Given the description of an element on the screen output the (x, y) to click on. 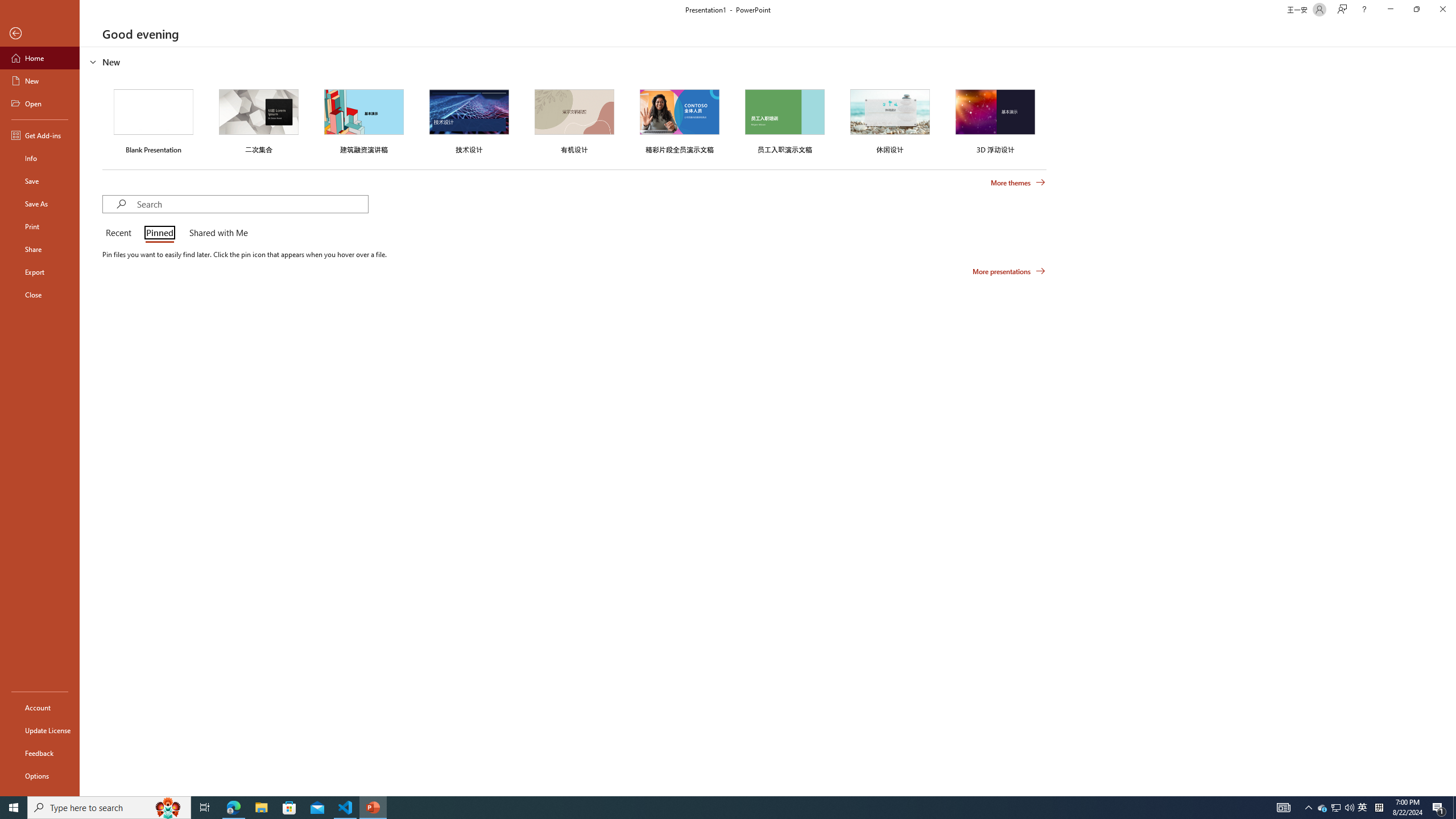
Print (40, 225)
Class: NetUIScrollBar (1450, 421)
Options (40, 775)
Account (40, 707)
